Given the description of an element on the screen output the (x, y) to click on. 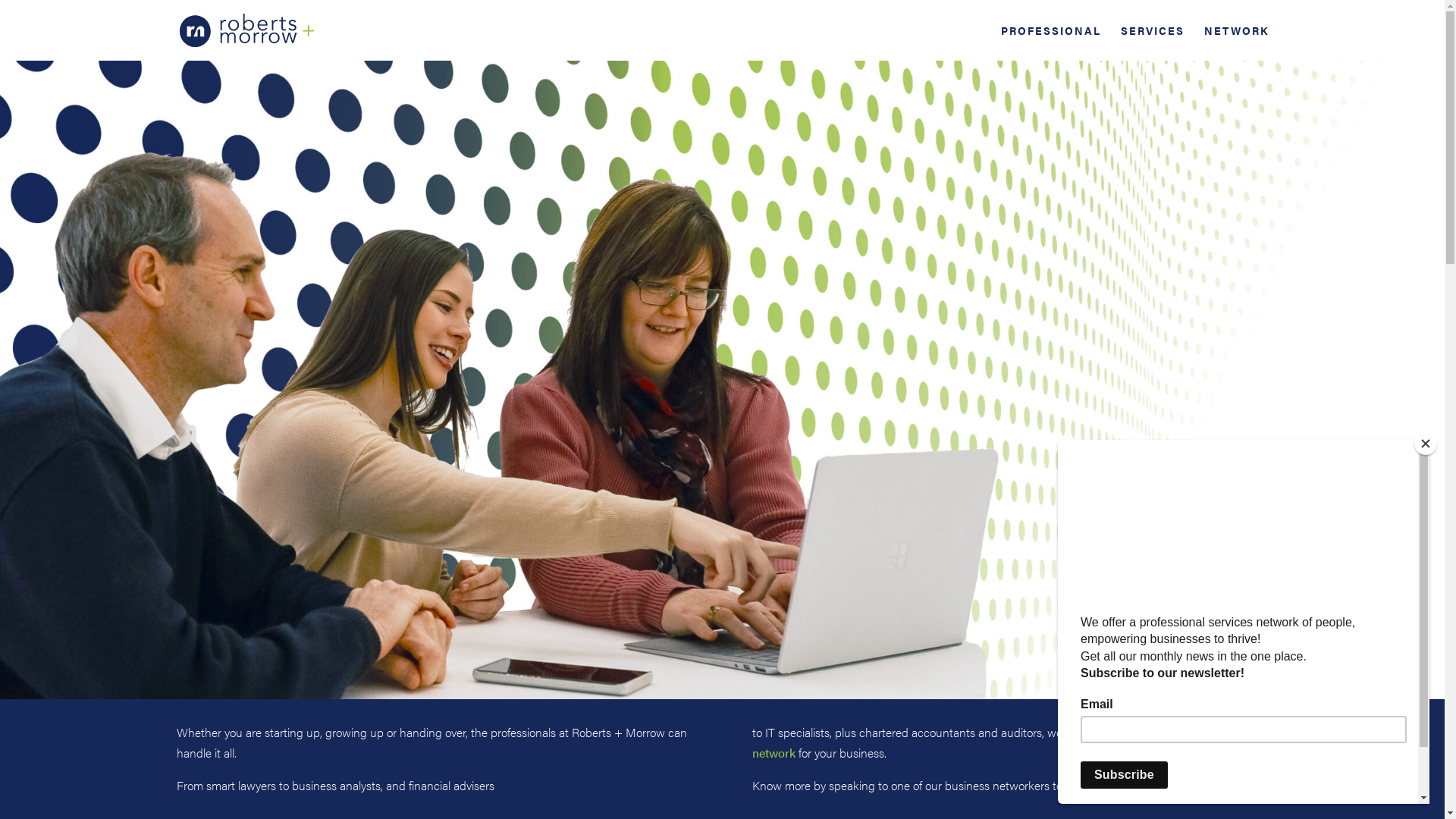
PROFESSIONAL Element type: text (1051, 42)
SERVICES Element type: text (1152, 42)
NETWORK Element type: text (1236, 42)
